Given the description of an element on the screen output the (x, y) to click on. 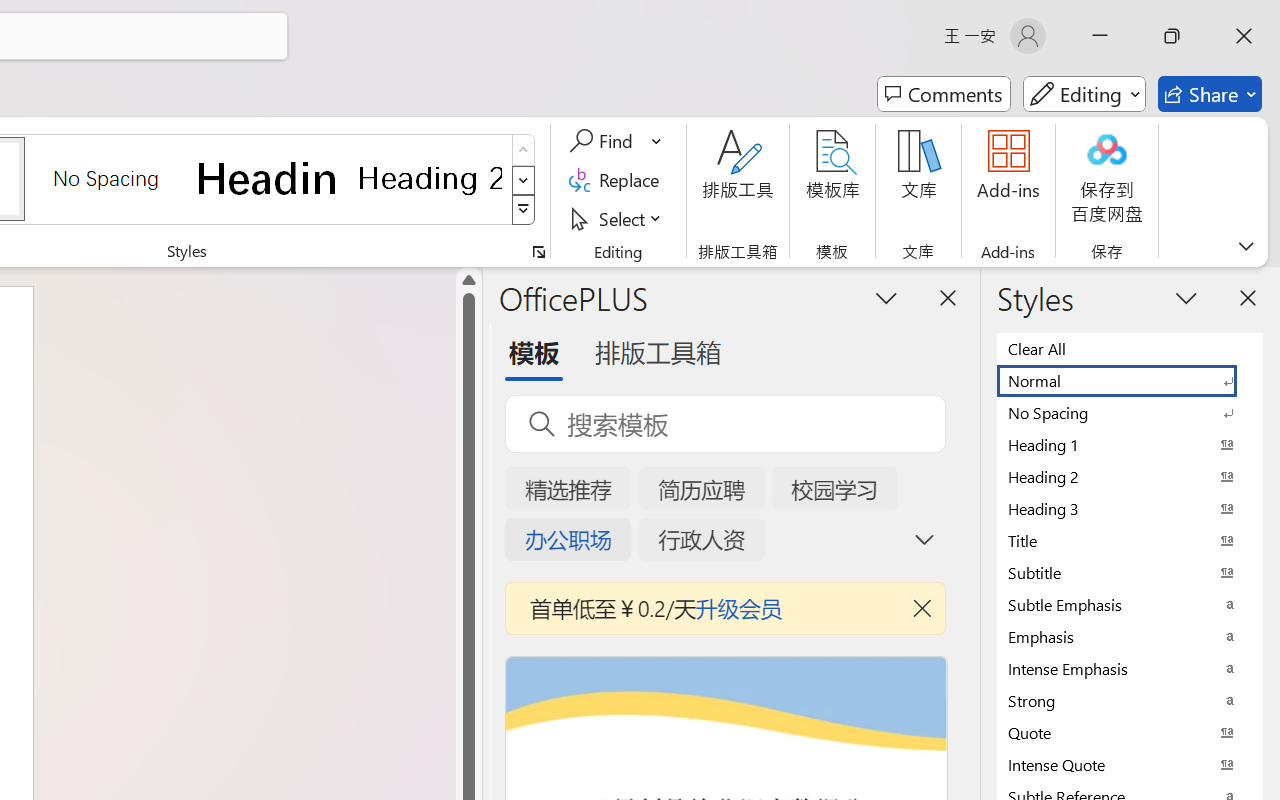
Find (604, 141)
Styles (523, 209)
Normal (1130, 380)
Share (1210, 94)
Heading 2 (429, 178)
Quote (1130, 732)
Select (618, 218)
Mode (1083, 94)
